Given the description of an element on the screen output the (x, y) to click on. 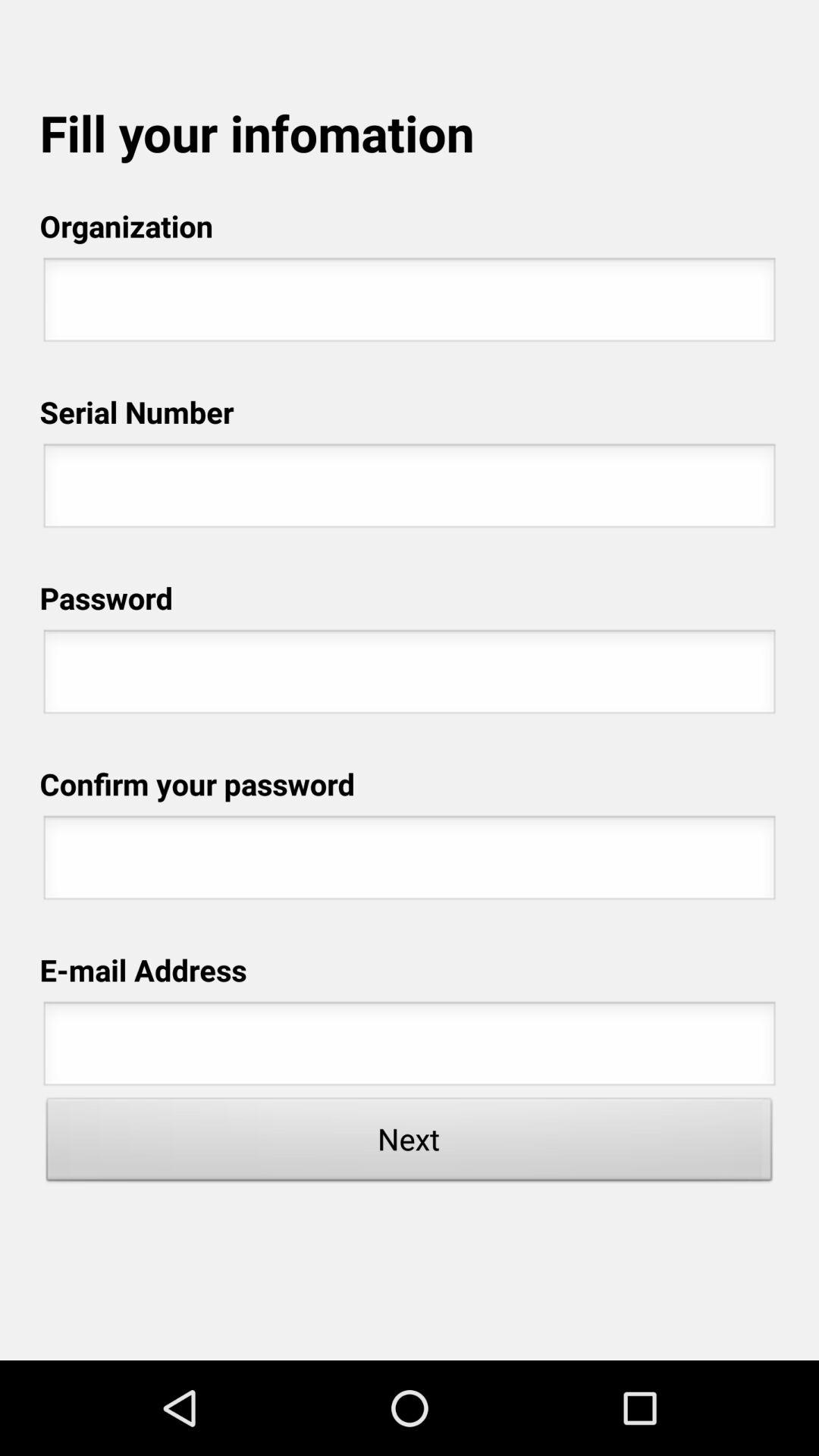
password (409, 862)
